Given the description of an element on the screen output the (x, y) to click on. 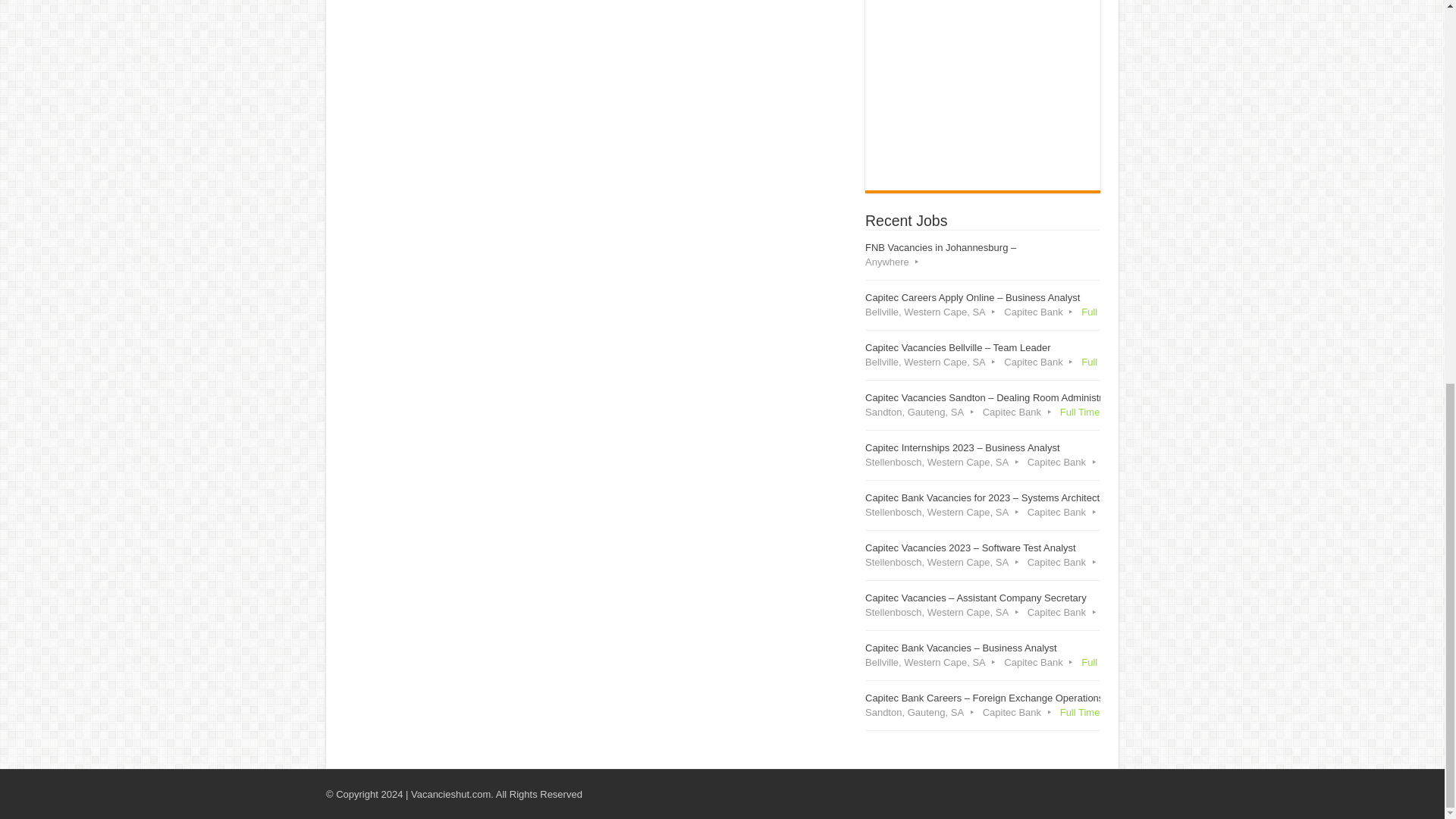
Advertisement (982, 91)
